Given the description of an element on the screen output the (x, y) to click on. 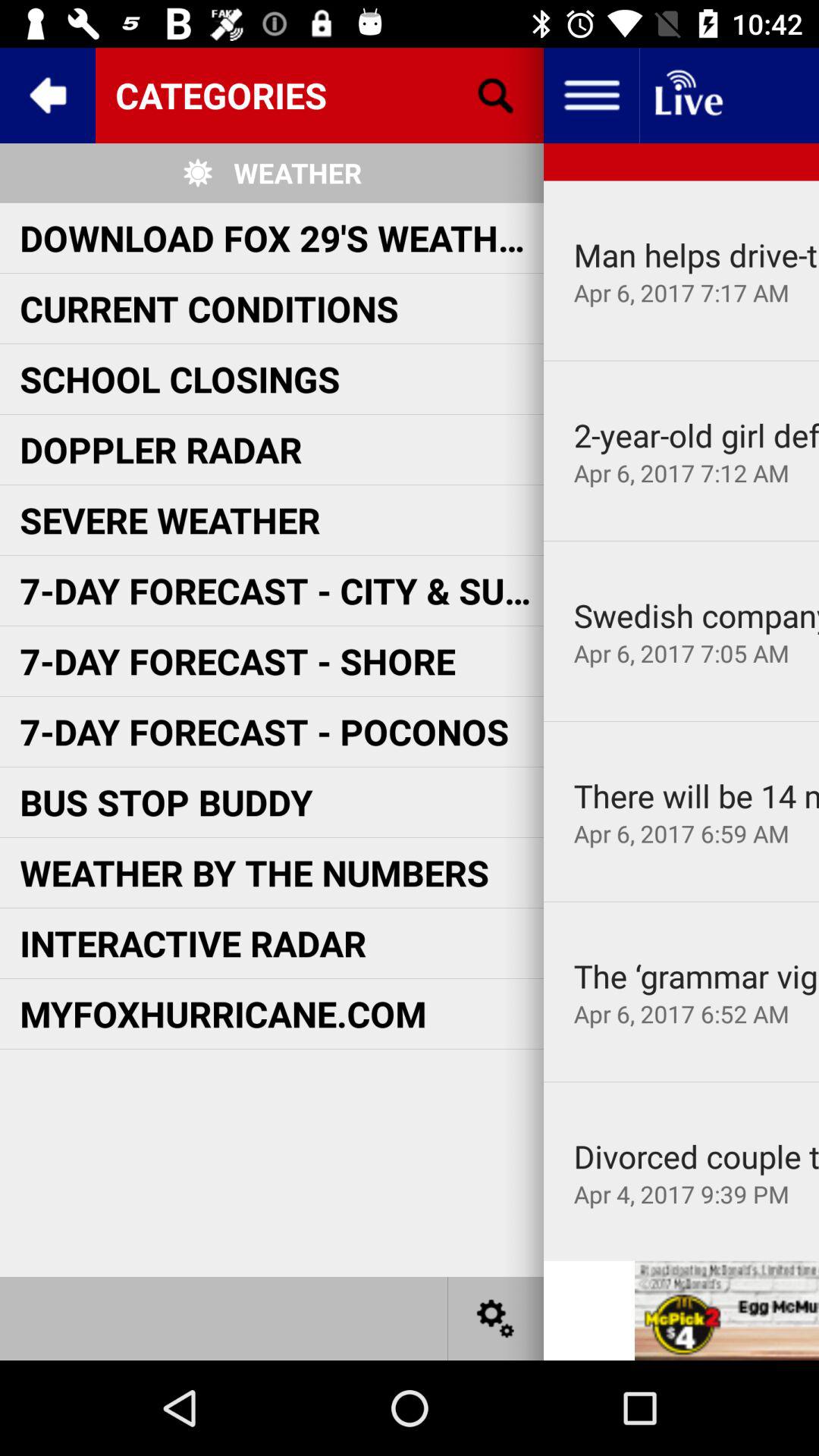
settings (495, 1318)
